Given the description of an element on the screen output the (x, y) to click on. 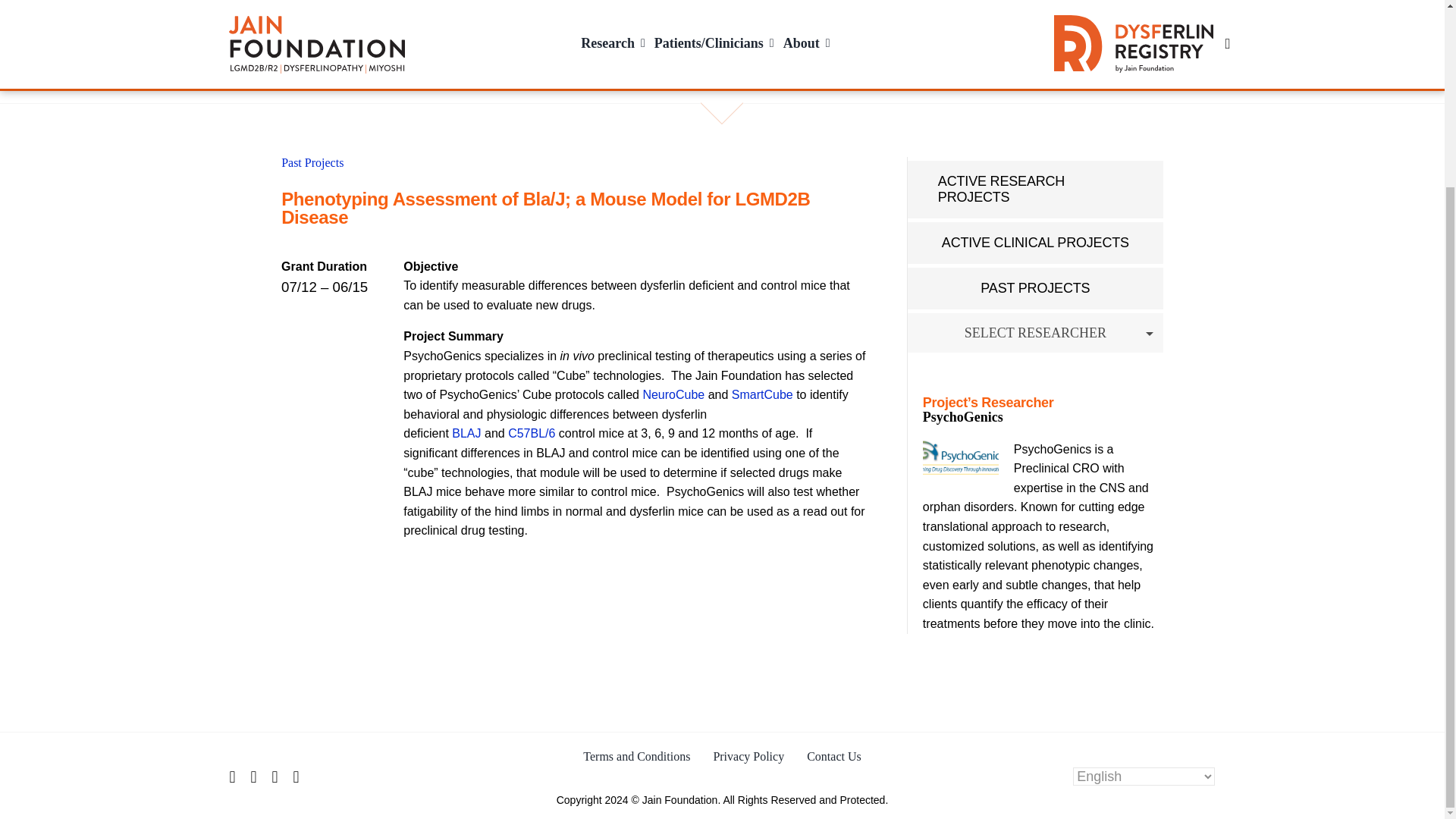
Past Projects (312, 162)
